Given the description of an element on the screen output the (x, y) to click on. 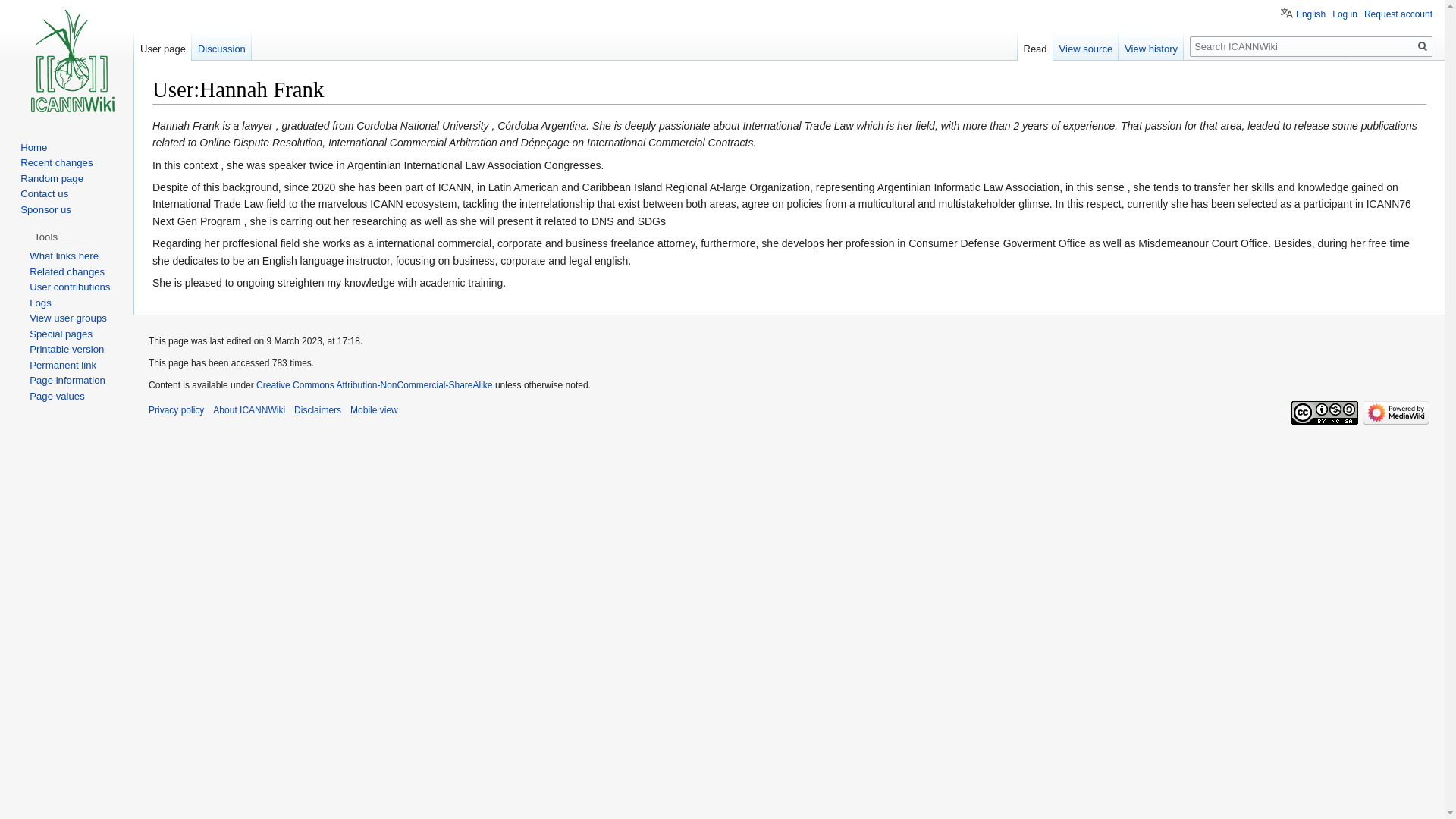
Contact us (44, 193)
Discussion (221, 45)
Search the pages for this text (1422, 46)
Printable version (66, 348)
What links here (64, 255)
Permanent link to this revision of the page (62, 365)
Page values (56, 396)
A list of contributions by this user (69, 286)
Search (1422, 46)
